Given the description of an element on the screen output the (x, y) to click on. 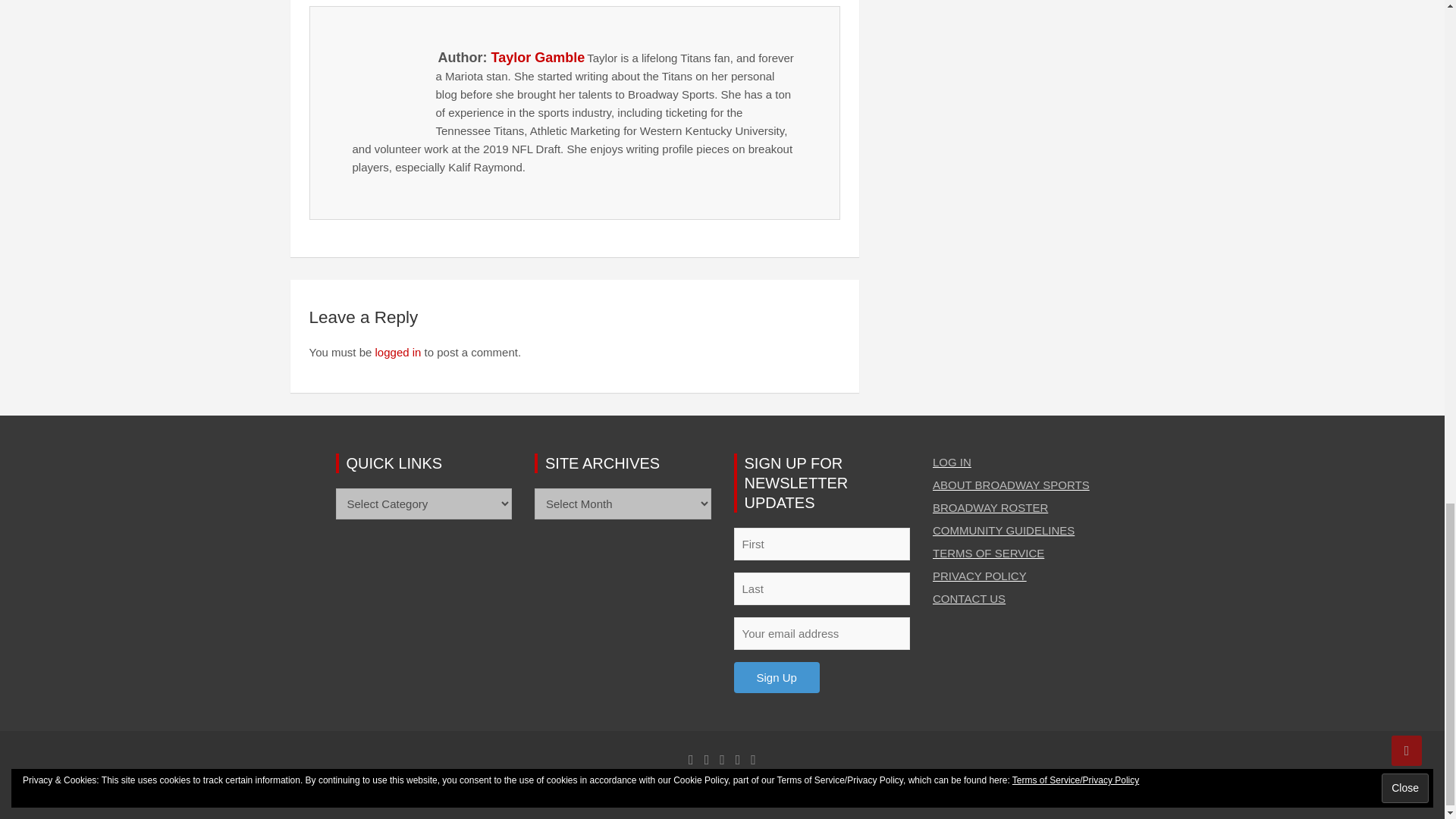
Sign Up (776, 676)
Broadway Sports Media (536, 789)
